Given the description of an element on the screen output the (x, y) to click on. 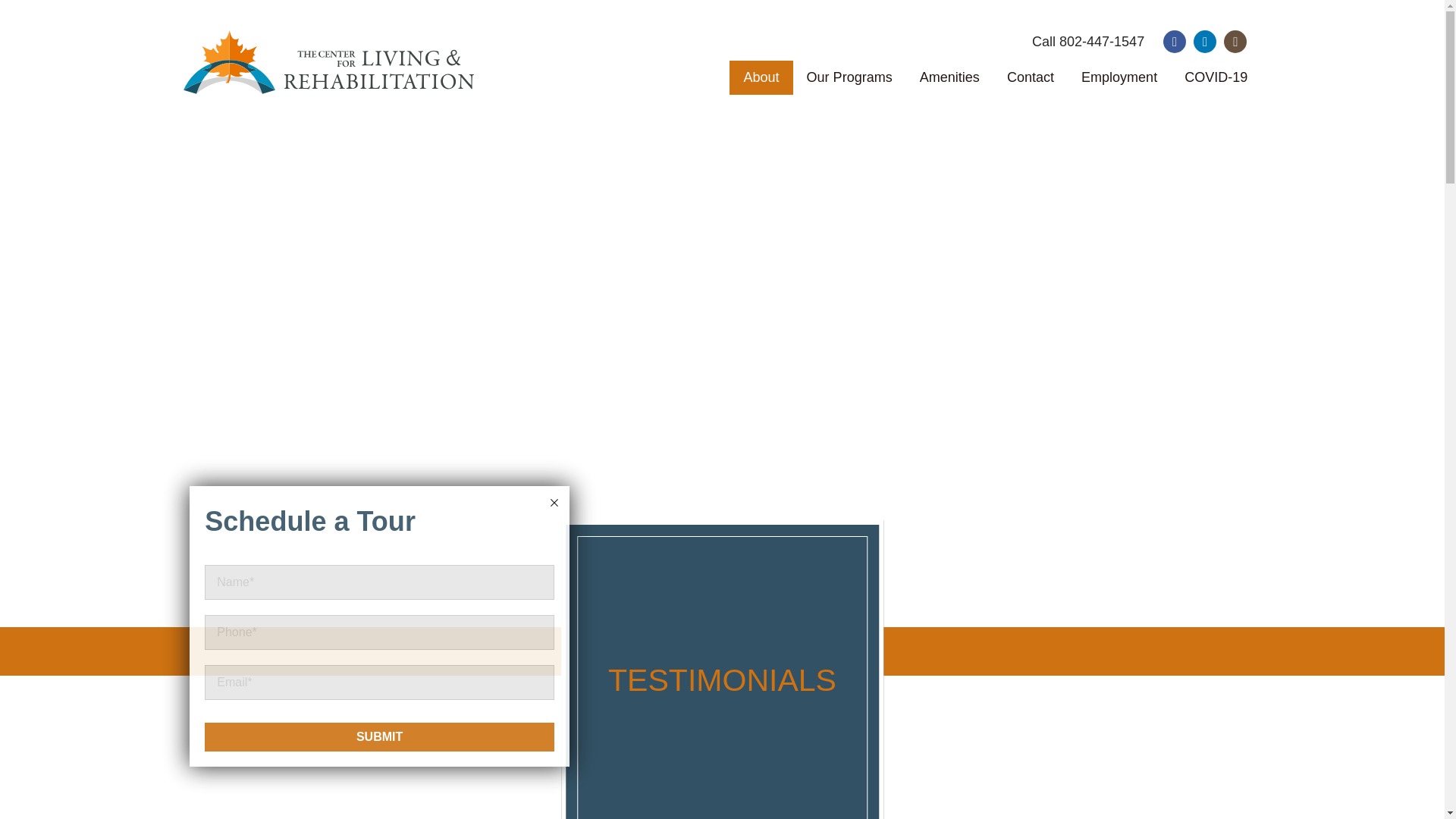
Employment (1118, 77)
COVID-19 (1215, 77)
About (760, 77)
Contact (1029, 77)
SUBMIT (379, 736)
Amenities (948, 77)
Our Programs (849, 77)
Call 802-447-1547 (1088, 41)
